Given the description of an element on the screen output the (x, y) to click on. 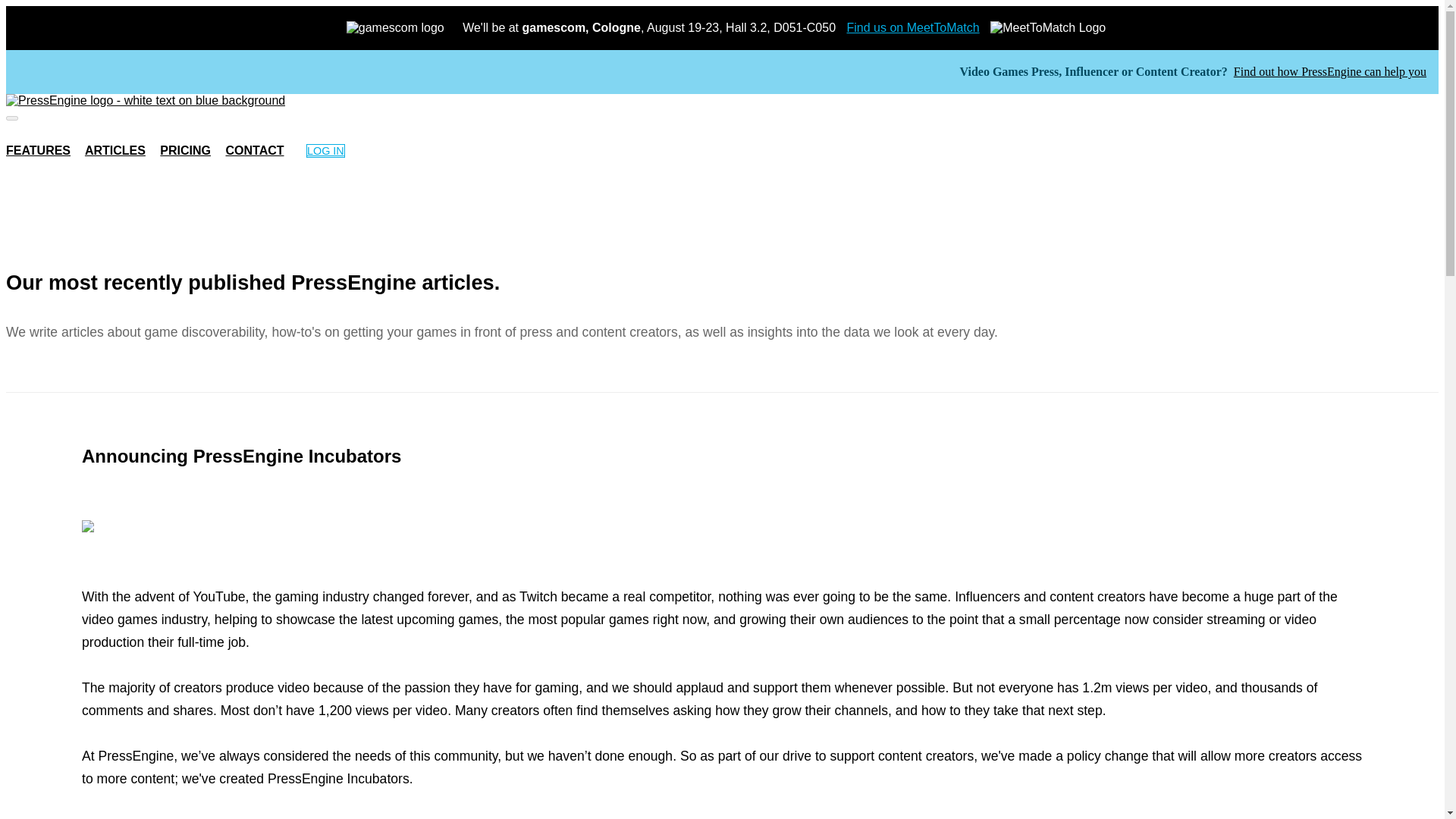
LOG IN (325, 151)
ARTICLES (114, 150)
Find us on MeetToMatch (911, 27)
PRICING (185, 150)
CONTACT (254, 150)
Find out how PressEngine can help you (1329, 71)
FEATURES (37, 150)
